Given the description of an element on the screen output the (x, y) to click on. 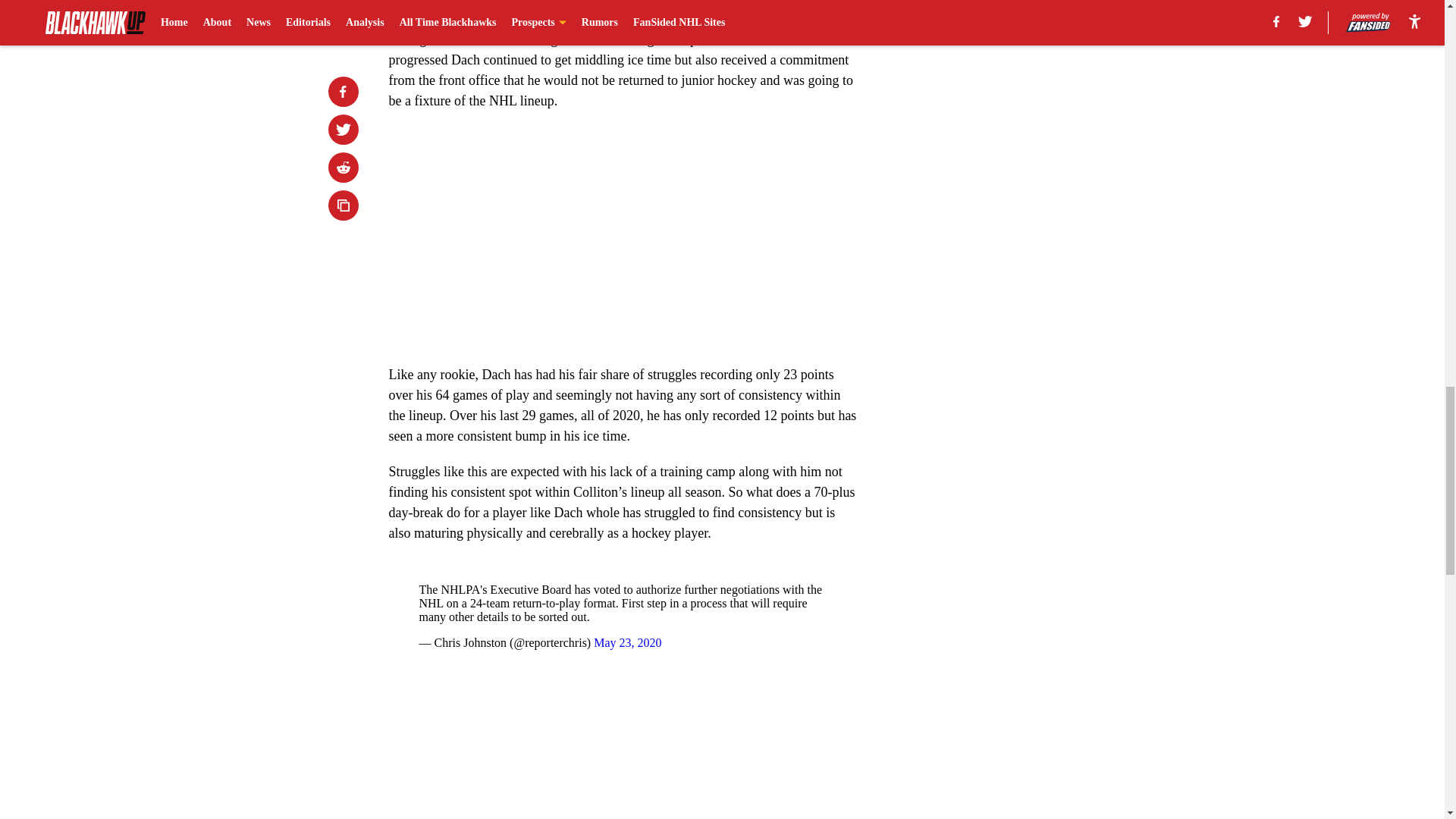
May 23, 2020 (627, 642)
